Given the description of an element on the screen output the (x, y) to click on. 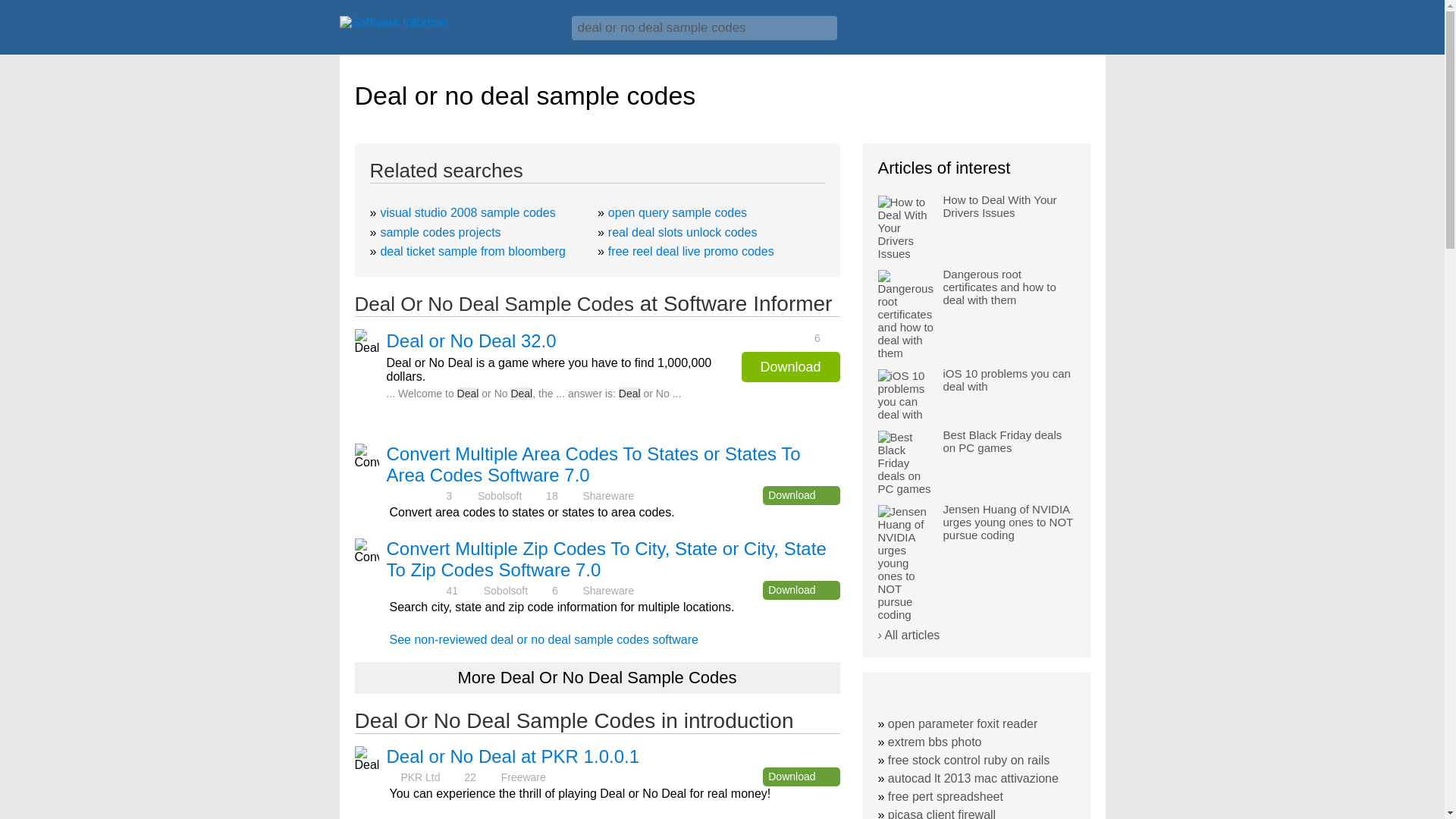
deal ticket sample from bloomberg (473, 250)
free reel deal live promo codes (691, 250)
Deal or No Deal 32.0 (471, 340)
open query sample codes (677, 212)
Windows (1070, 33)
6 votes (785, 336)
Download (801, 776)
Download (801, 495)
Deal or No Deal at PKR 1.0.0.1 (513, 756)
Software downloads and reviews (446, 25)
deal or no deal sample codes (704, 27)
sample codes projects (440, 232)
